Given the description of an element on the screen output the (x, y) to click on. 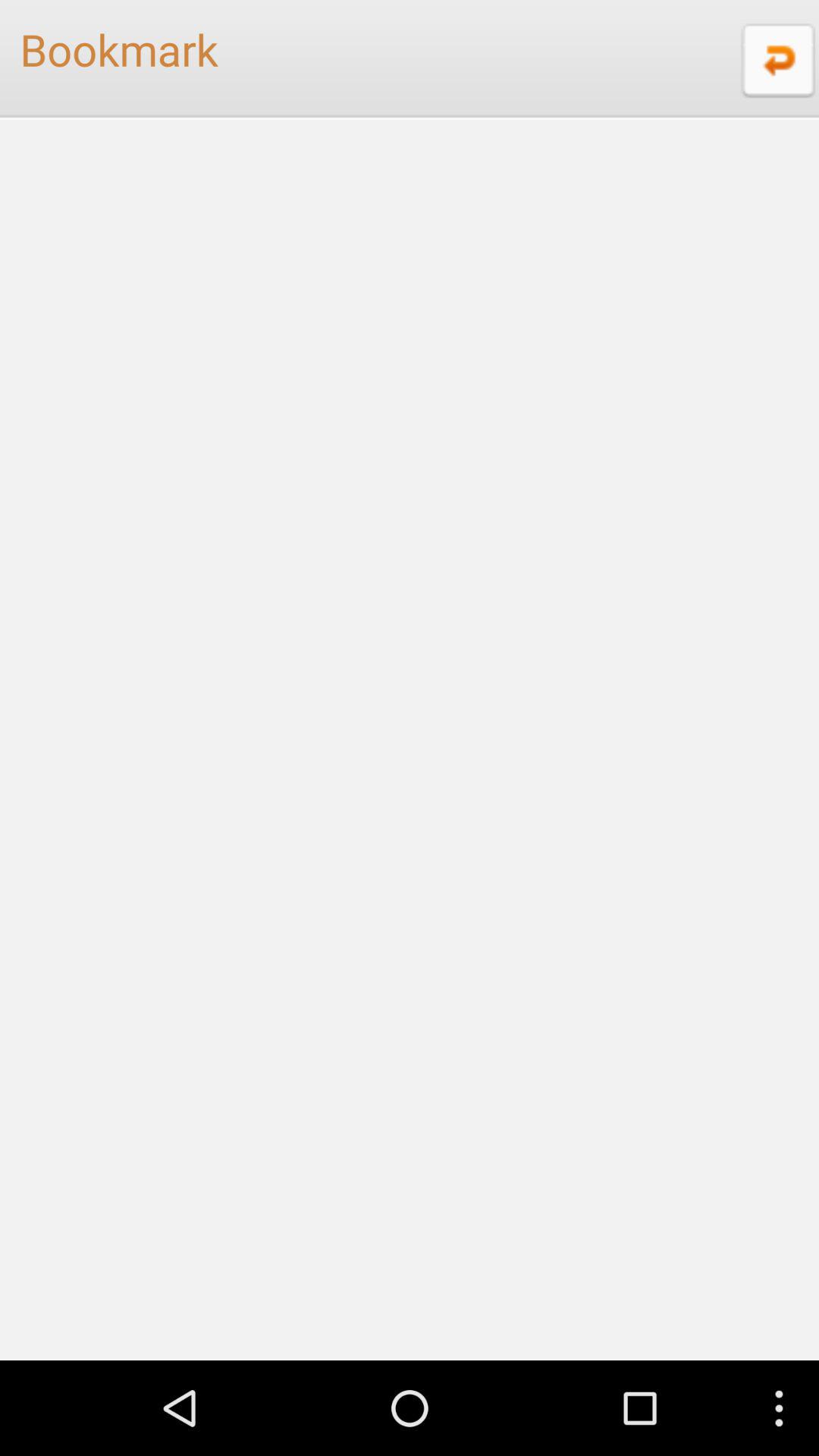
select item next to bookmark (776, 59)
